Given the description of an element on the screen output the (x, y) to click on. 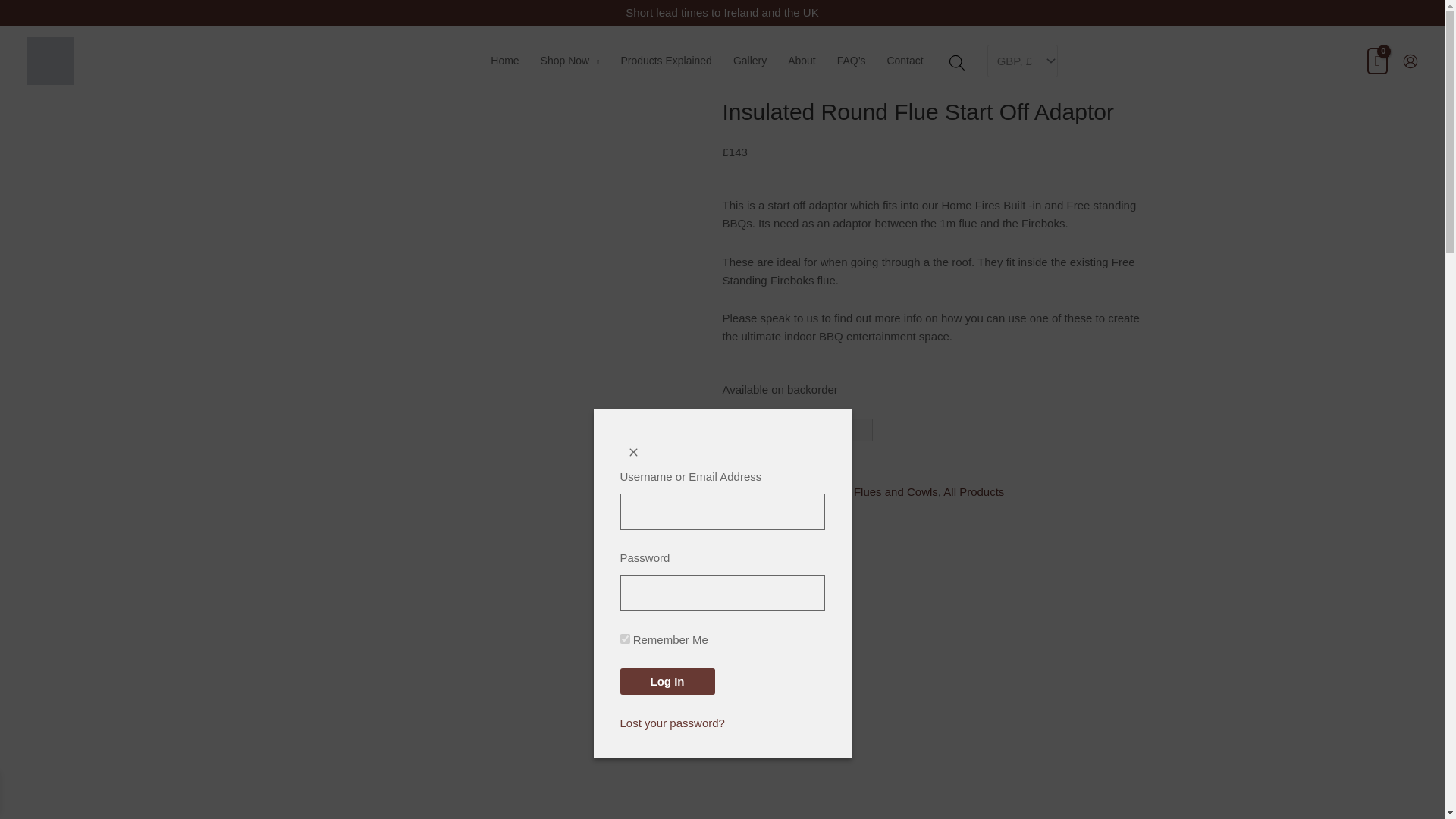
Products Explained (666, 60)
1 (797, 429)
Log In (667, 681)
Flues and Cowls (895, 491)
All Products (973, 491)
About (802, 60)
Contact (904, 60)
Gallery (749, 60)
forever (625, 638)
Add to cart (782, 454)
Home (504, 60)
Shop Now (569, 60)
